Given the description of an element on the screen output the (x, y) to click on. 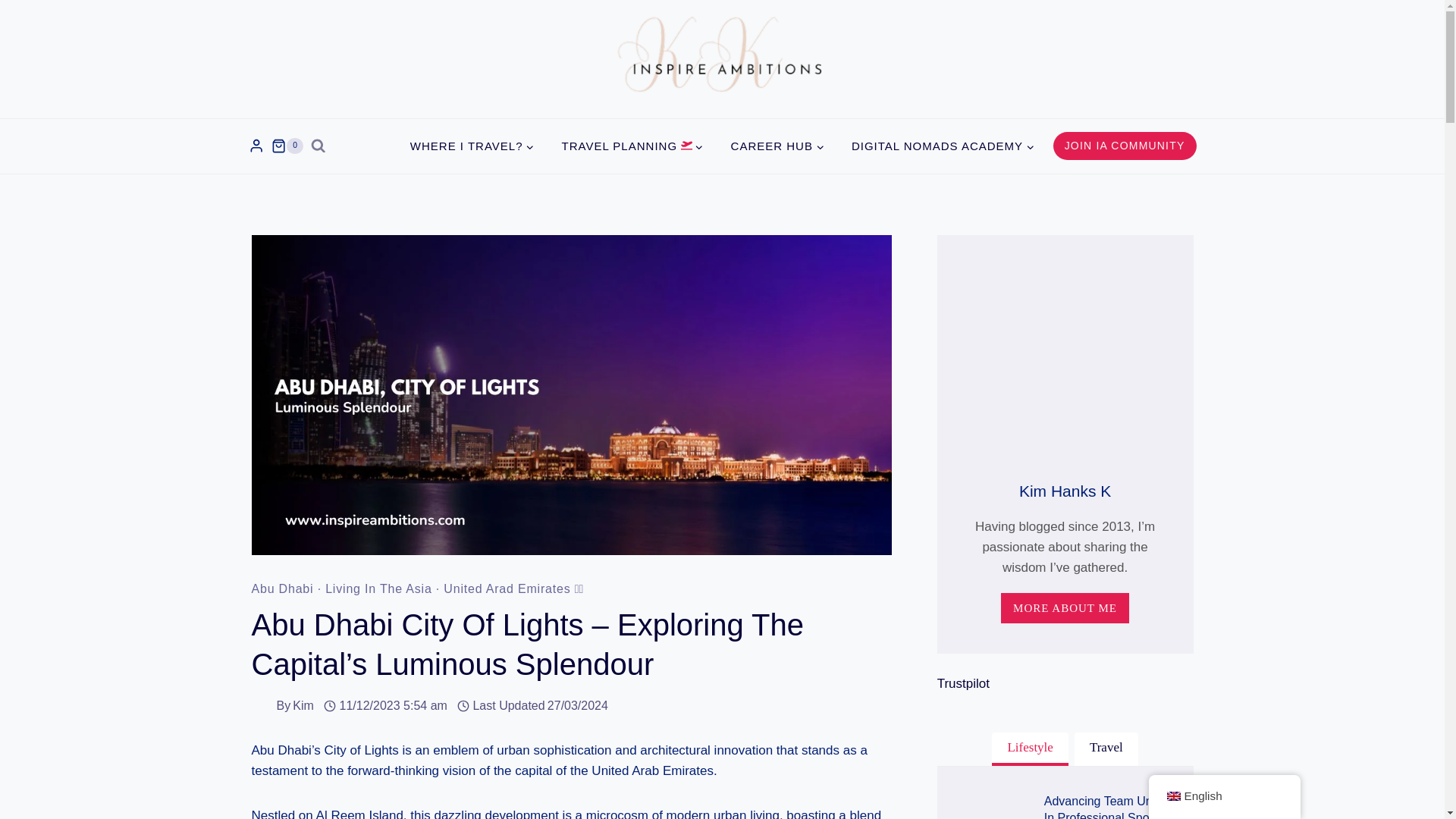
WHERE I TRAVEL? (472, 146)
0 (286, 146)
English (1172, 795)
